Given the description of an element on the screen output the (x, y) to click on. 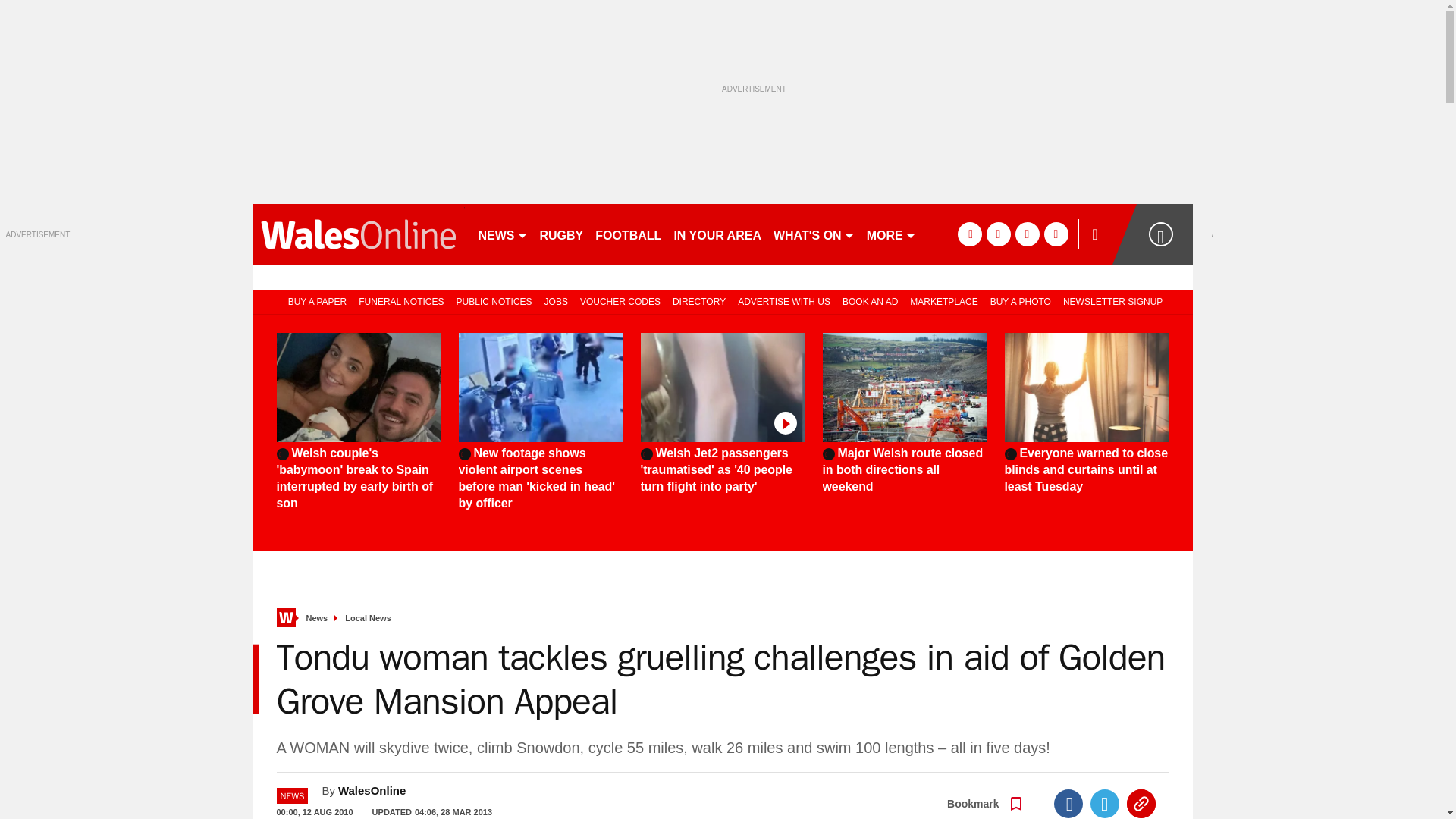
WHAT'S ON (813, 233)
Facebook (1068, 803)
3rd party ad content (118, 333)
pinterest (1026, 233)
RUGBY (561, 233)
walesonline (357, 233)
Twitter (1104, 803)
MORE (890, 233)
instagram (1055, 233)
facebook (968, 233)
twitter (997, 233)
FOOTBALL (627, 233)
